Given the description of an element on the screen output the (x, y) to click on. 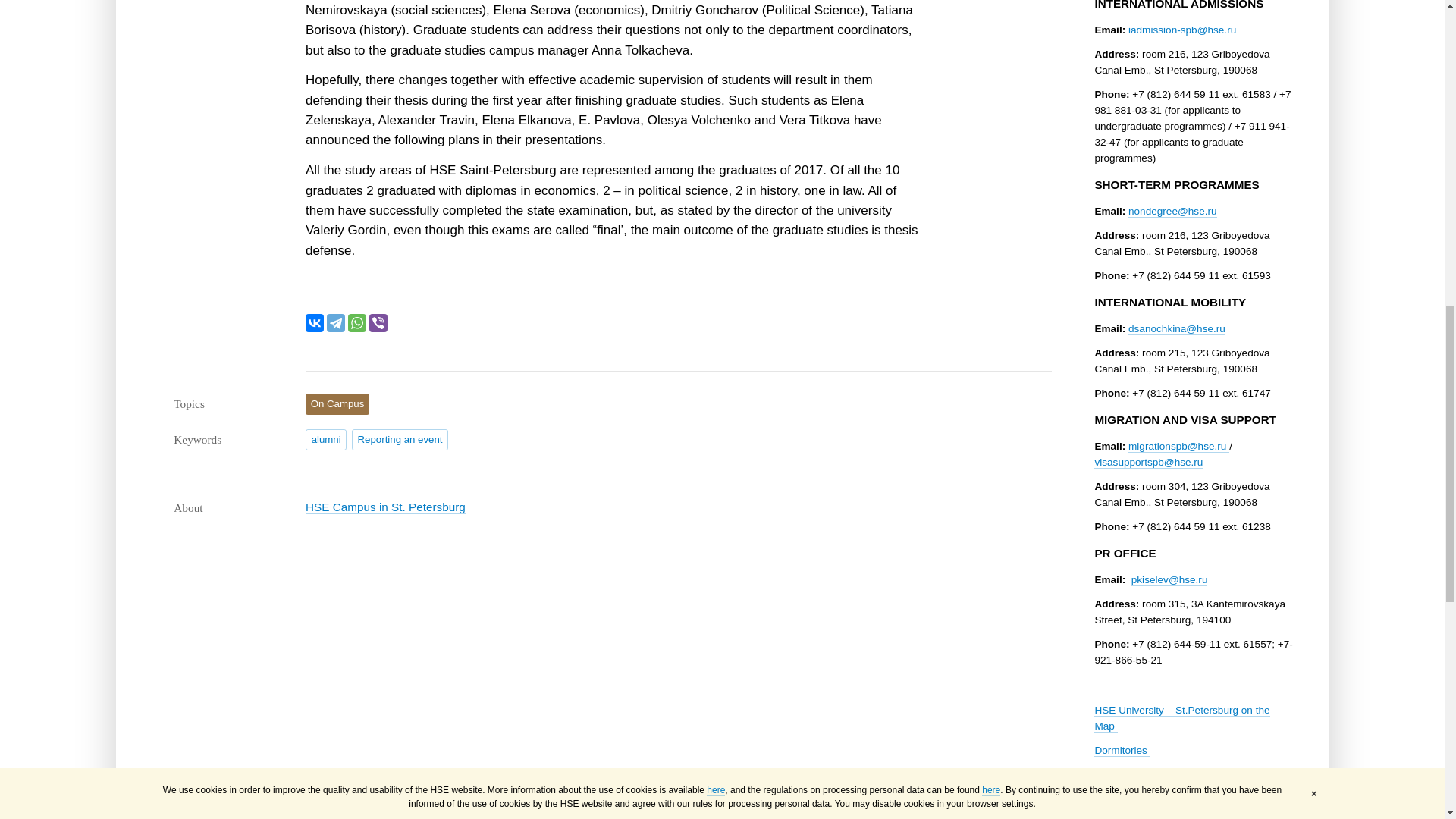
VKontakte (314, 322)
WhatsApp (356, 322)
Viber (378, 322)
Telegram (335, 322)
